Given the description of an element on the screen output the (x, y) to click on. 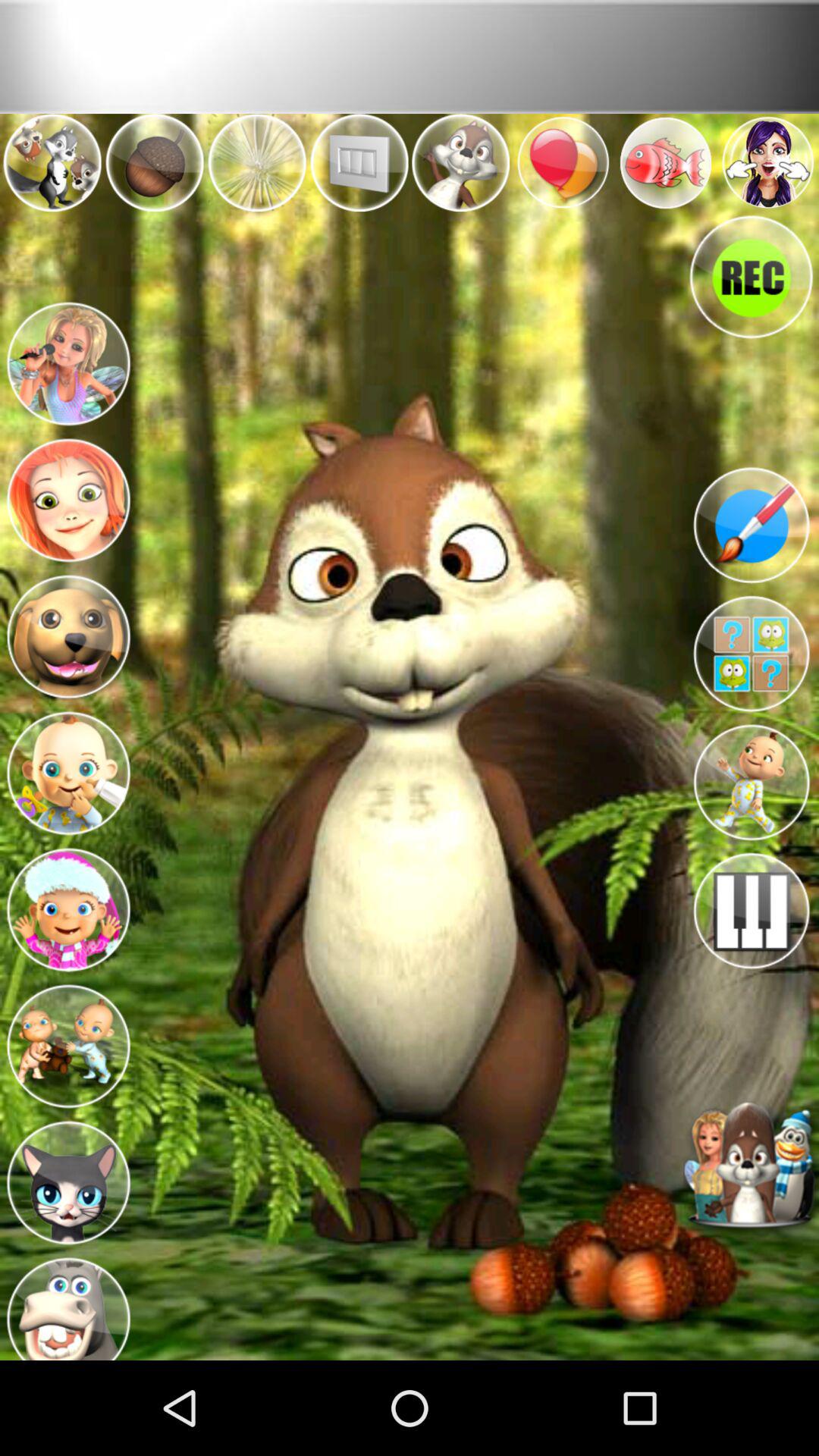
change avatar (68, 361)
